Given the description of an element on the screen output the (x, y) to click on. 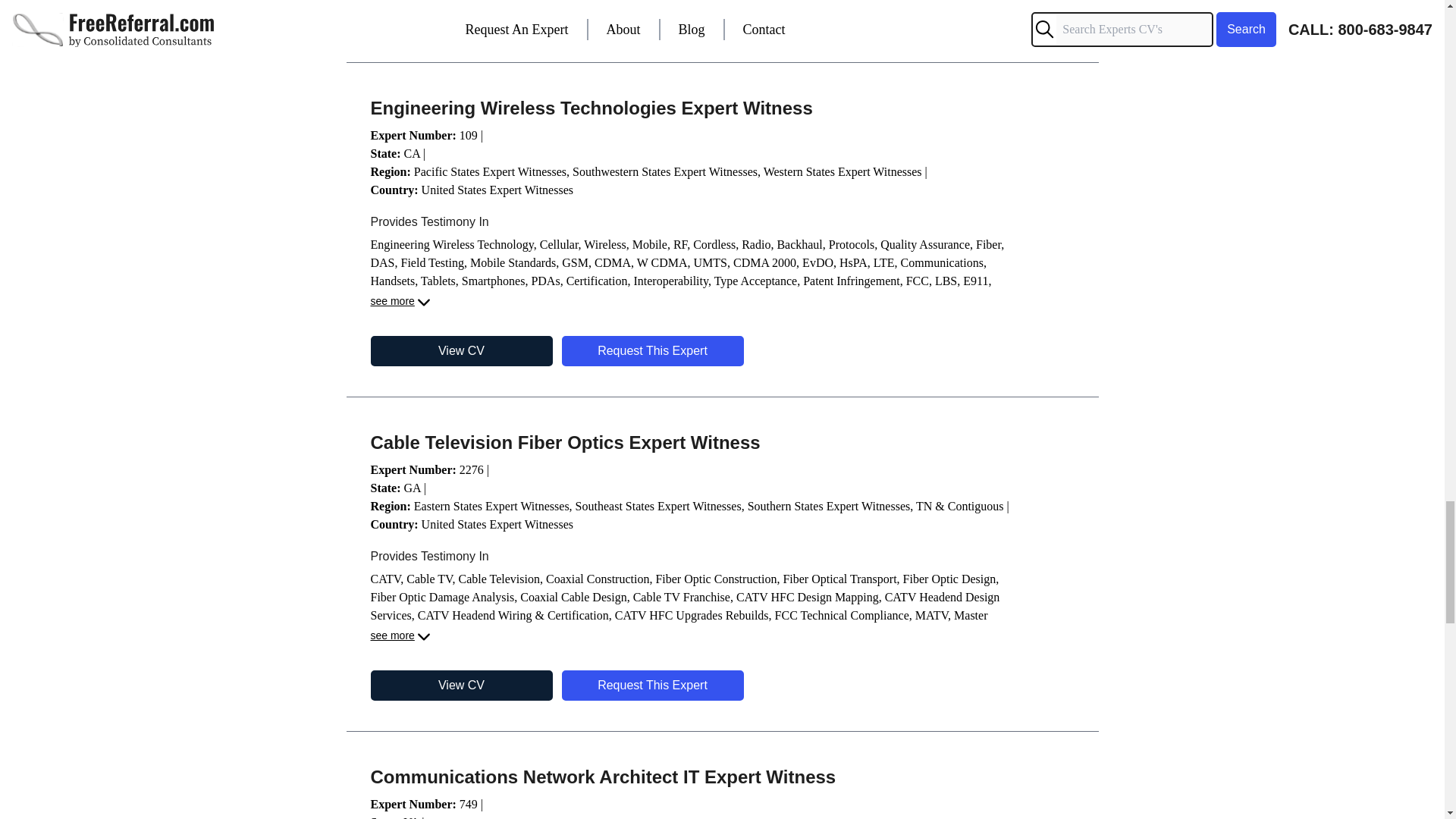
Request This Expert (651, 350)
see more (400, 637)
View CV (460, 350)
View CV (460, 16)
View CV (460, 685)
Request This Expert (651, 685)
see more (400, 302)
Request This Expert (651, 16)
